Given the description of an element on the screen output the (x, y) to click on. 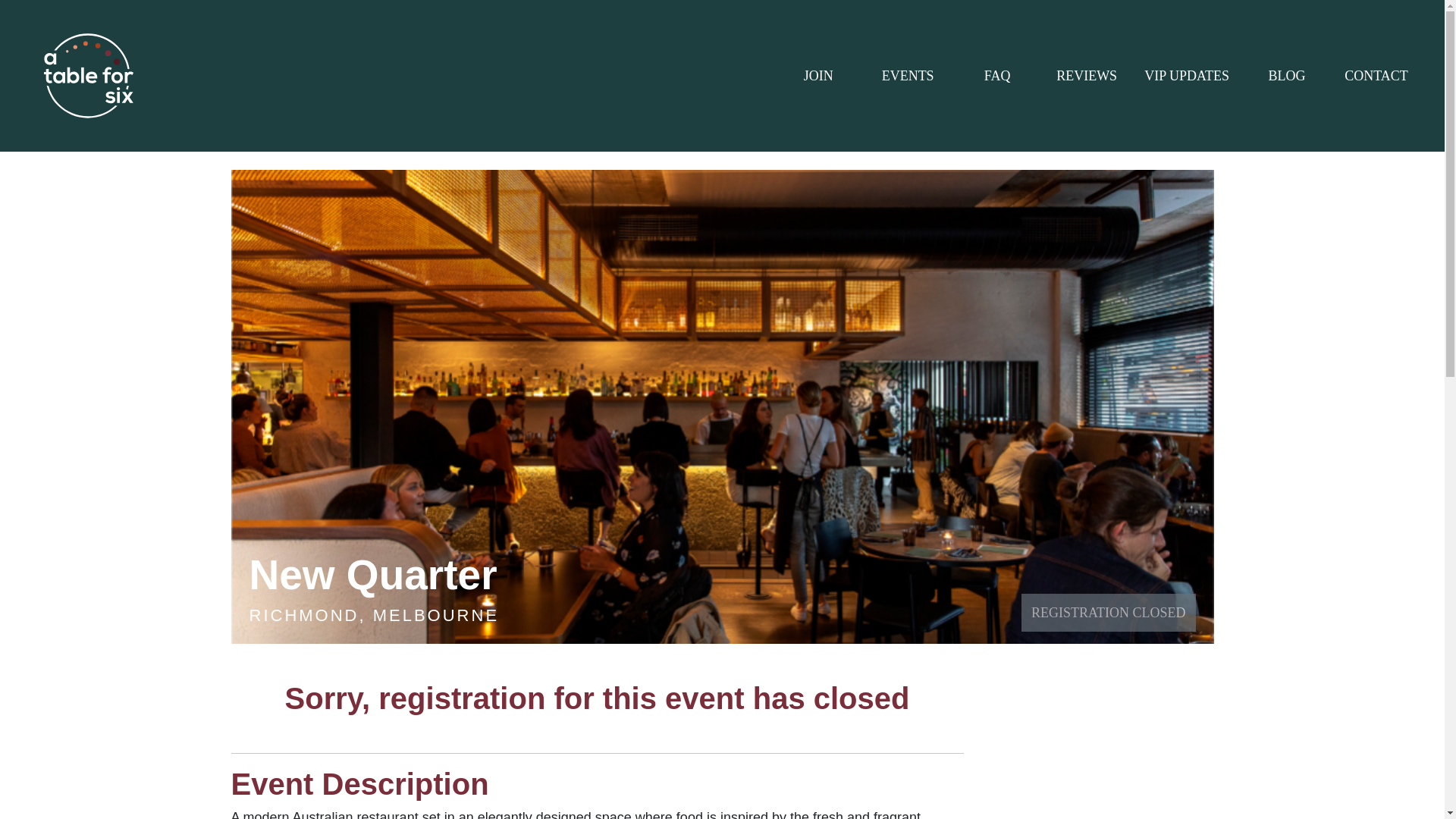
BLOG (1286, 75)
REGISTRATION CLOSED (1108, 612)
JOIN (818, 75)
VIP UPDATES (1186, 75)
CONTACT (1375, 75)
EVENTS (906, 75)
FAQ (997, 75)
REVIEWS (1086, 75)
